Given the description of an element on the screen output the (x, y) to click on. 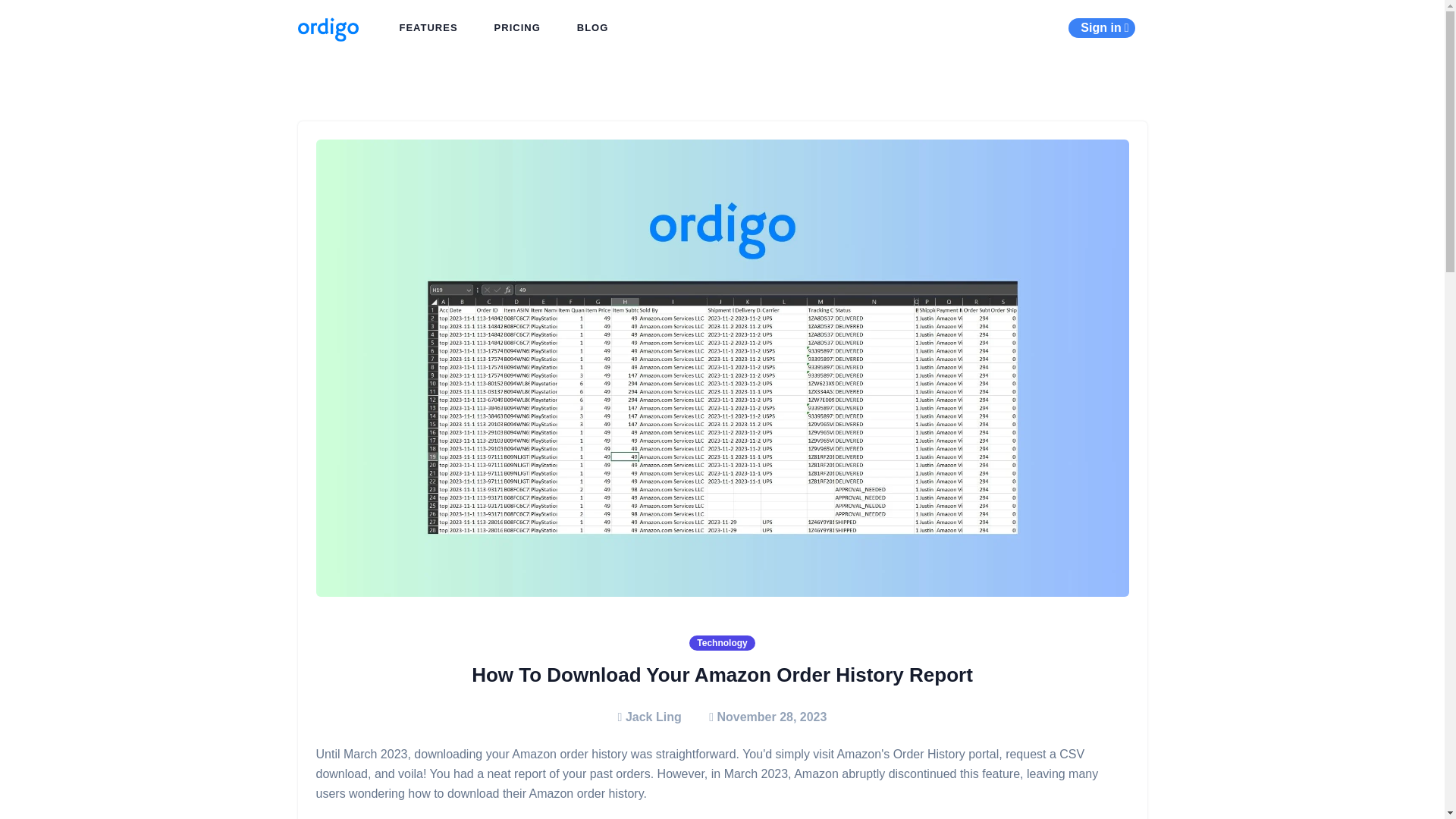
FEATURES (427, 28)
Sign in (1101, 28)
PRICING (517, 28)
BLOG (593, 28)
